Given the description of an element on the screen output the (x, y) to click on. 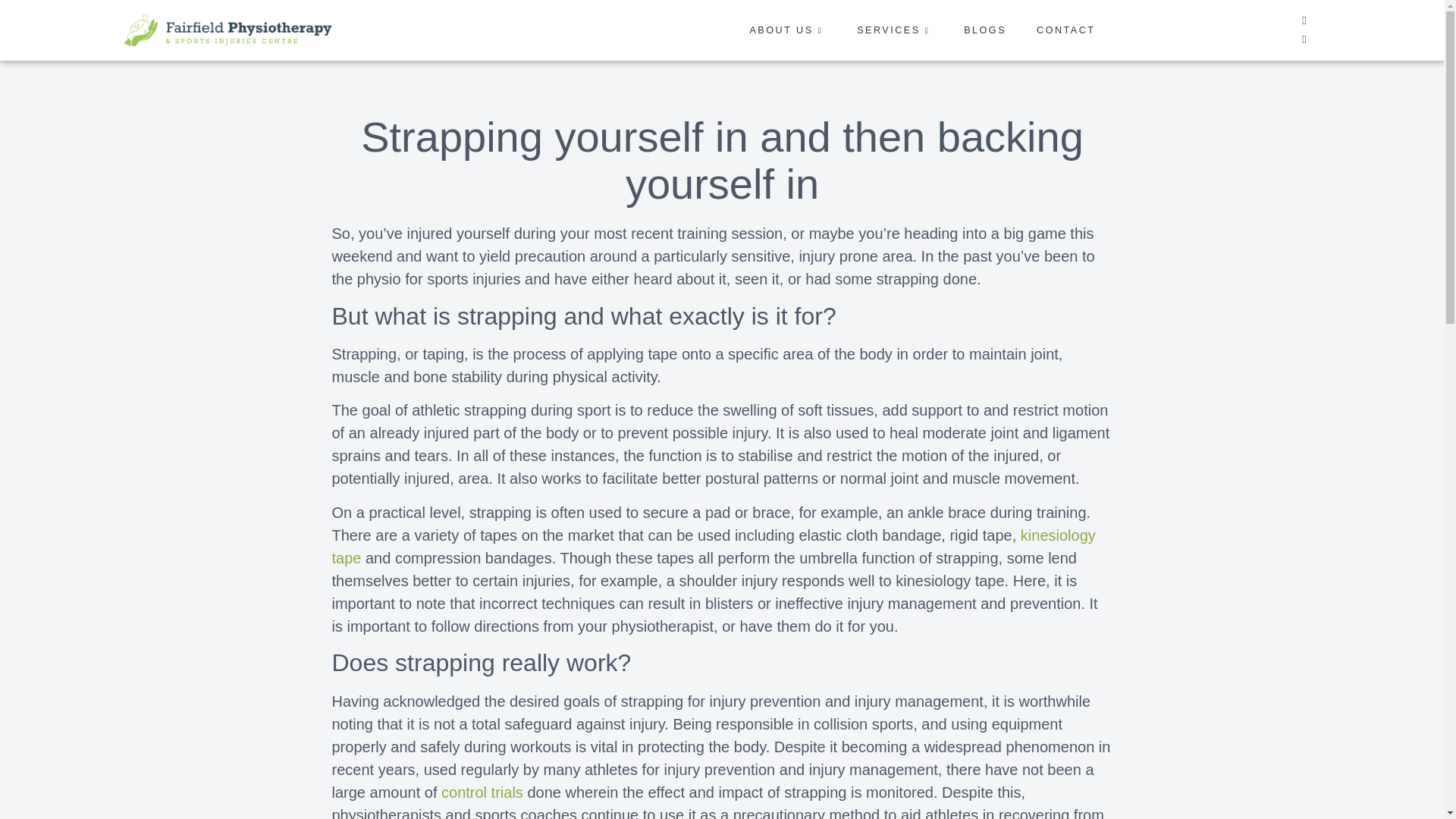
CONTACT (1050, 30)
ABOUT US (773, 30)
kinesiology tape (713, 546)
BLOGS (969, 30)
SERVICES (880, 30)
control trials (481, 791)
